Given the description of an element on the screen output the (x, y) to click on. 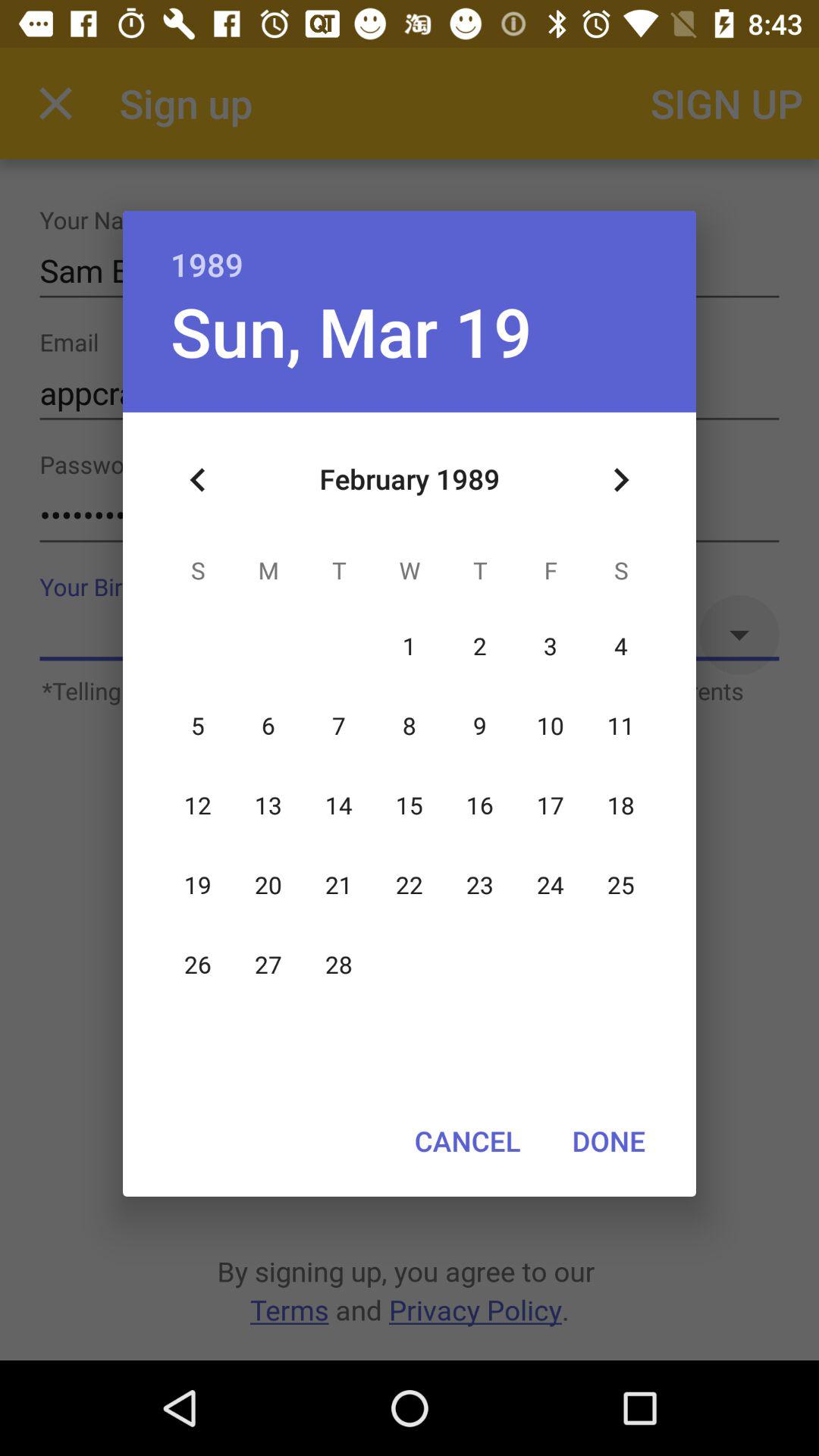
turn off the icon below the 1989 item (351, 331)
